Given the description of an element on the screen output the (x, y) to click on. 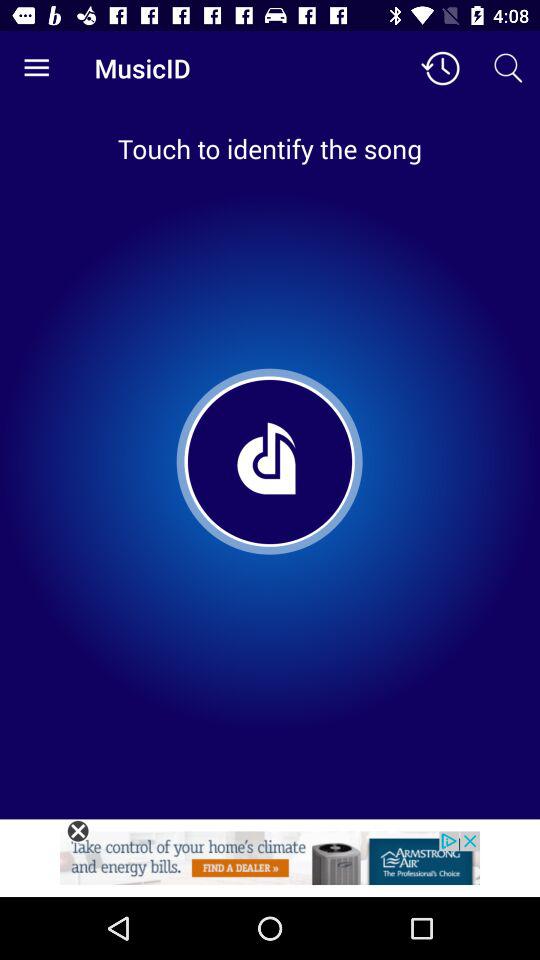
go to advertisement website (270, 864)
